Given the description of an element on the screen output the (x, y) to click on. 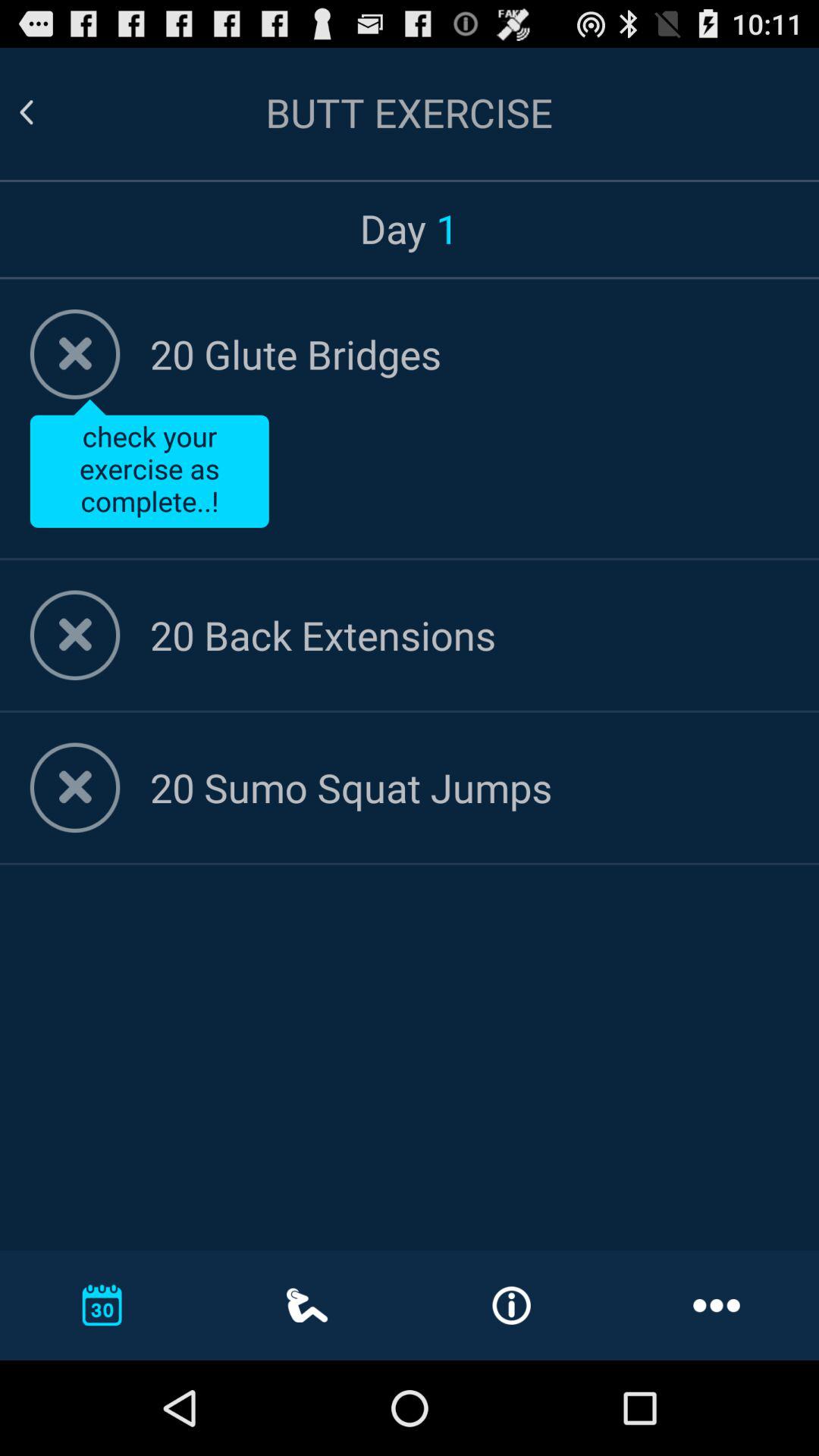
go back (44, 112)
